Given the description of an element on the screen output the (x, y) to click on. 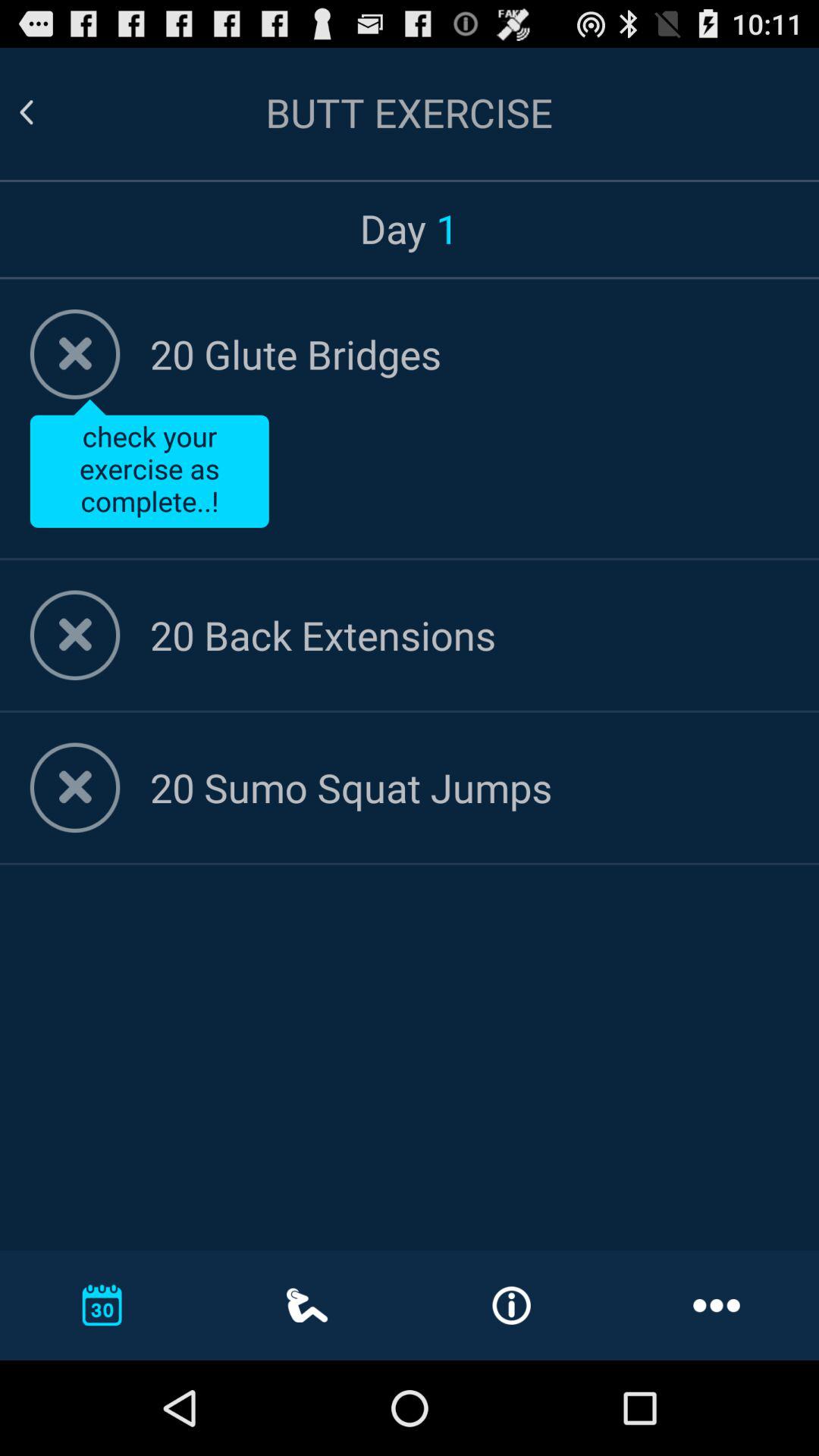
go back (44, 112)
